Given the description of an element on the screen output the (x, y) to click on. 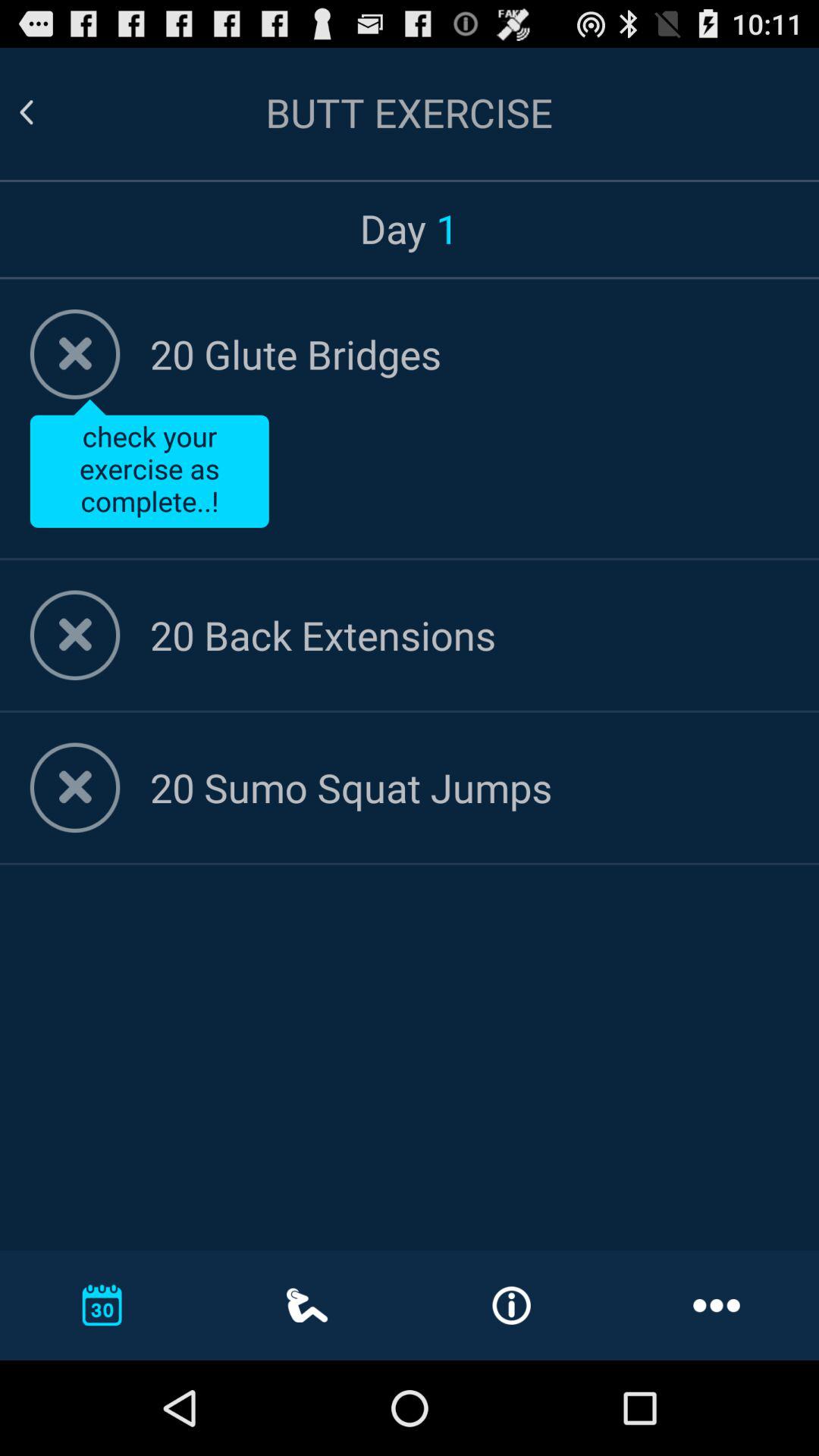
go back (44, 112)
